Given the description of an element on the screen output the (x, y) to click on. 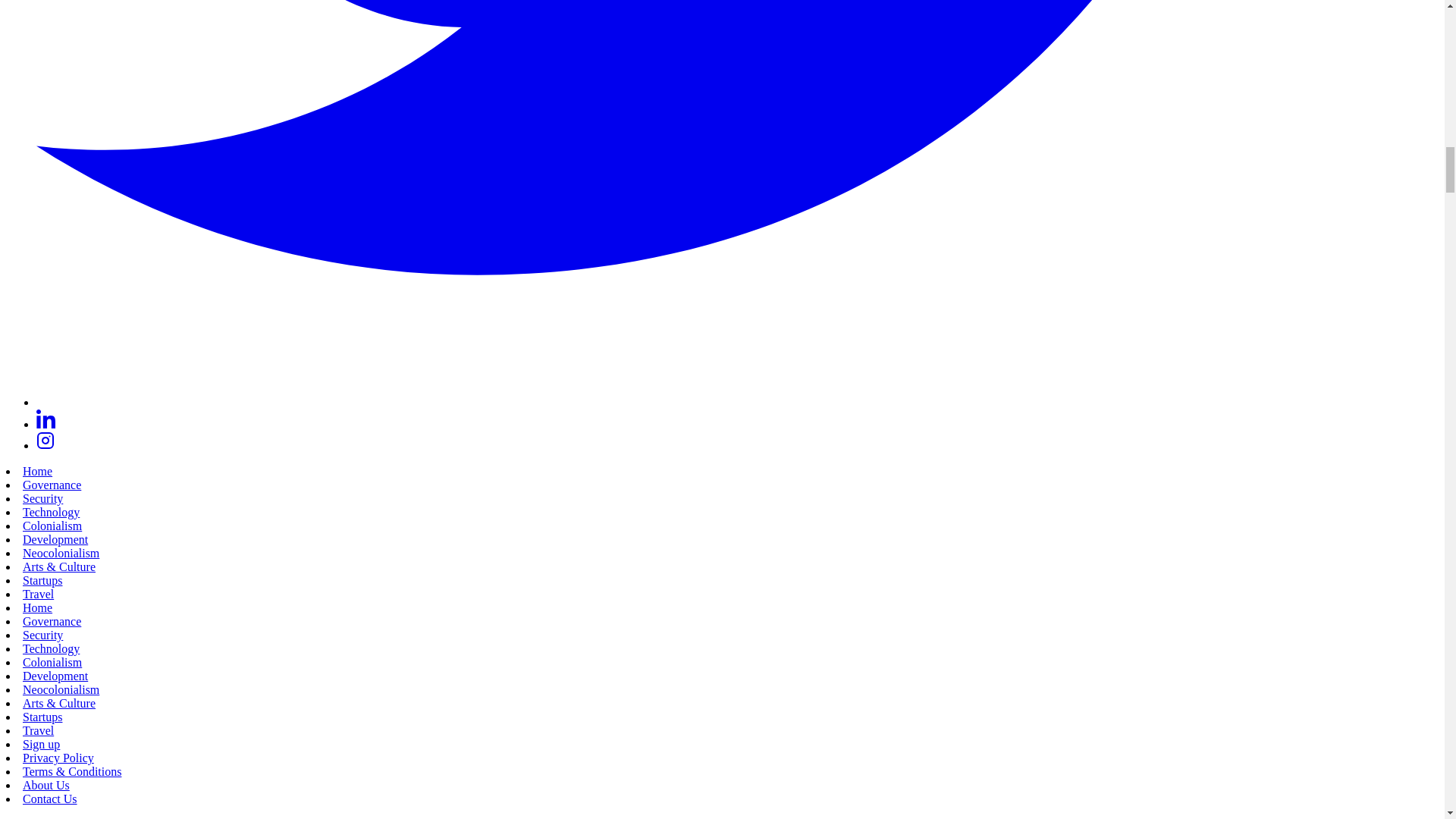
Startups (42, 716)
Sign up (41, 744)
Startups (42, 580)
Home (37, 471)
Privacy Policy (58, 757)
About Us (46, 784)
Neocolonialism (61, 553)
Travel (38, 730)
Technology (51, 648)
Technology (51, 512)
Colonialism (52, 662)
Security (42, 634)
Contact Us (50, 798)
Home (37, 607)
Governance (52, 621)
